Given the description of an element on the screen output the (x, y) to click on. 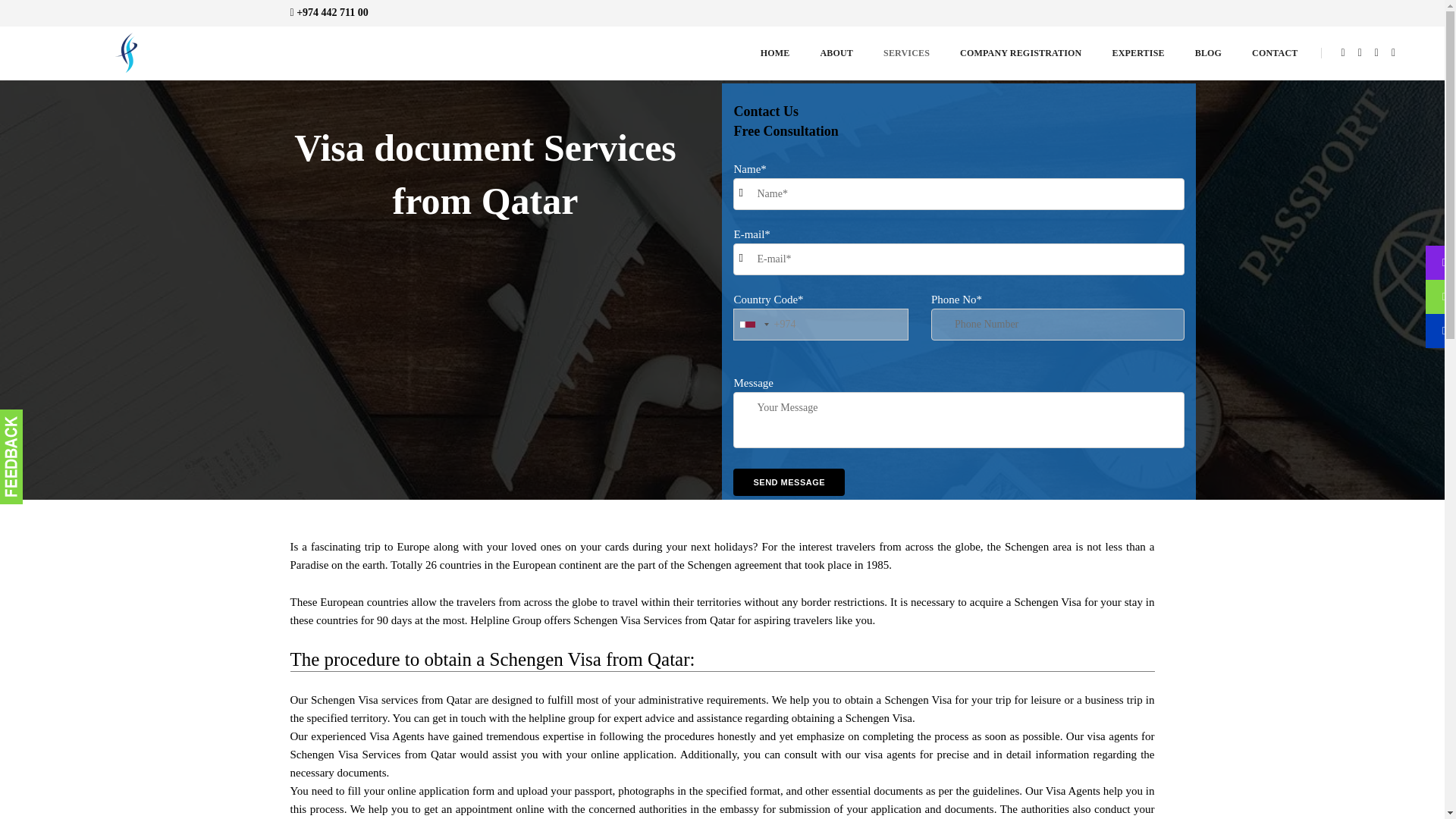
send message (788, 482)
Company Formation in Qatar (132, 51)
